Given the description of an element on the screen output the (x, y) to click on. 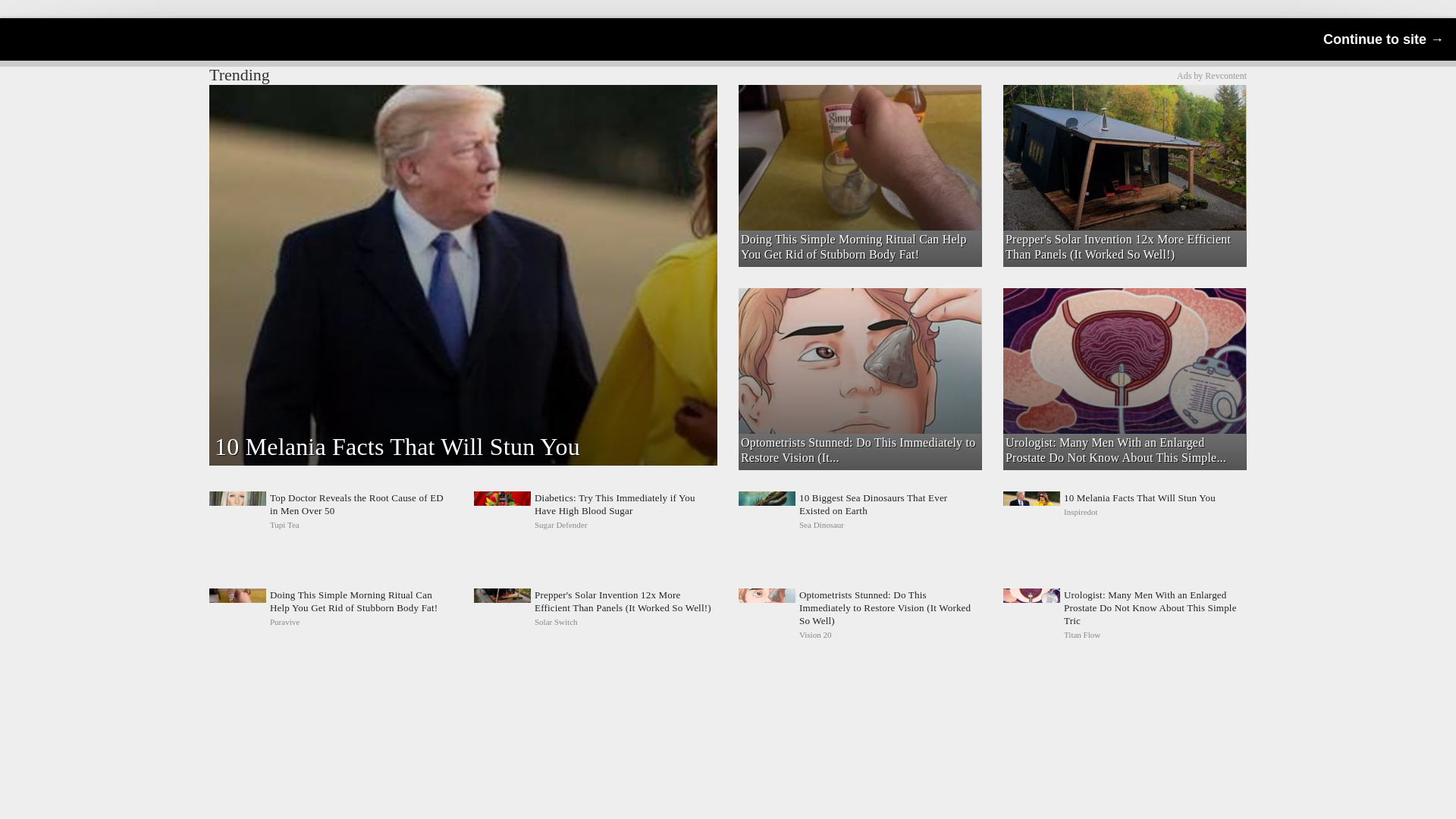
BIDEN FACEPLANTS (859, 111)
10 Melania Facts That Will Stun You (1124, 510)
Top Doctor Reveals the Root Cause of ED in Men Over 50 (330, 510)
10 Biggest Sea Dinosaurs That Ever Existed on Earth (859, 510)
